Given the description of an element on the screen output the (x, y) to click on. 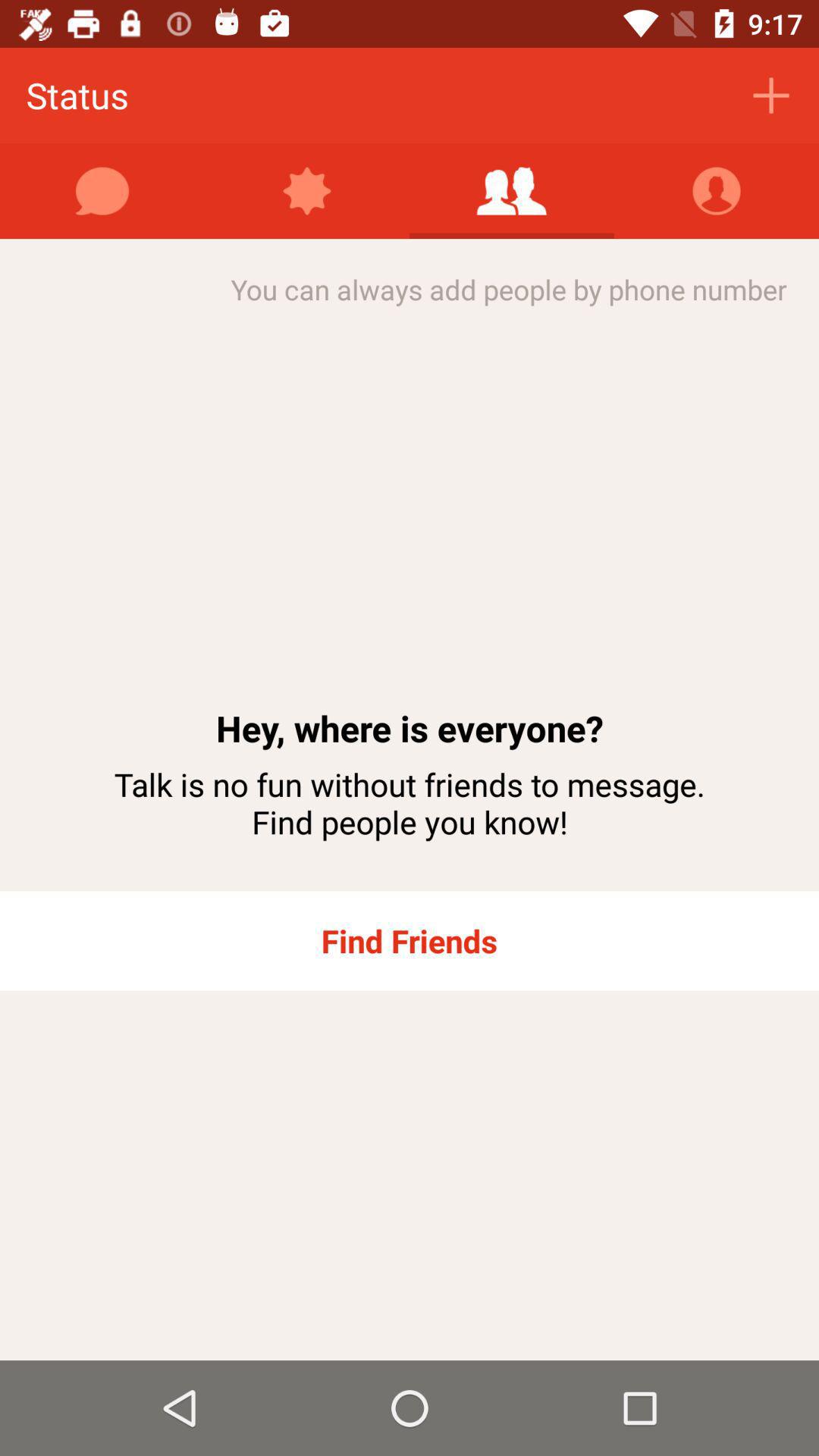
my profile (716, 190)
